Given the description of an element on the screen output the (x, y) to click on. 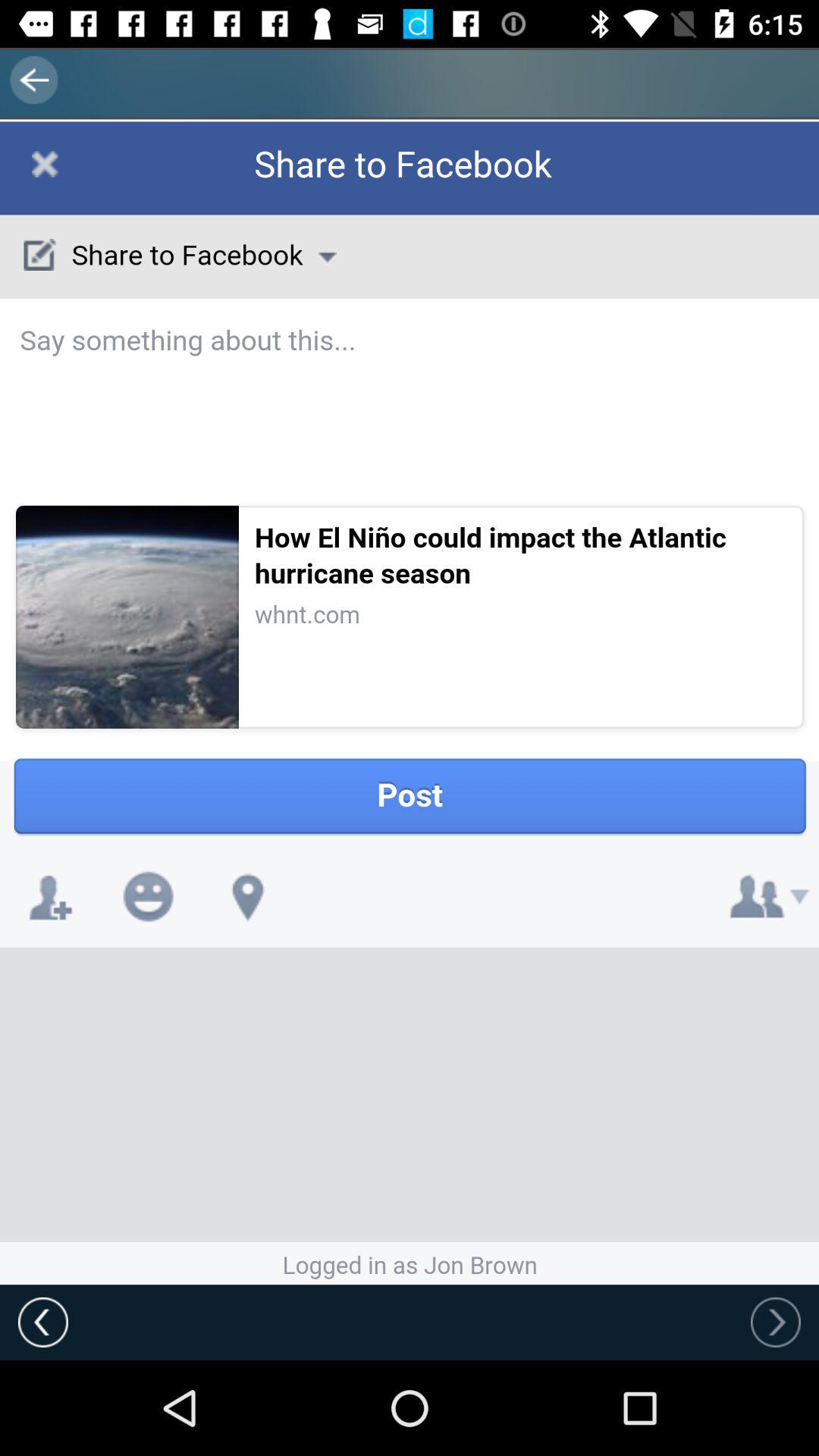
main content space (409, 702)
